Given the description of an element on the screen output the (x, y) to click on. 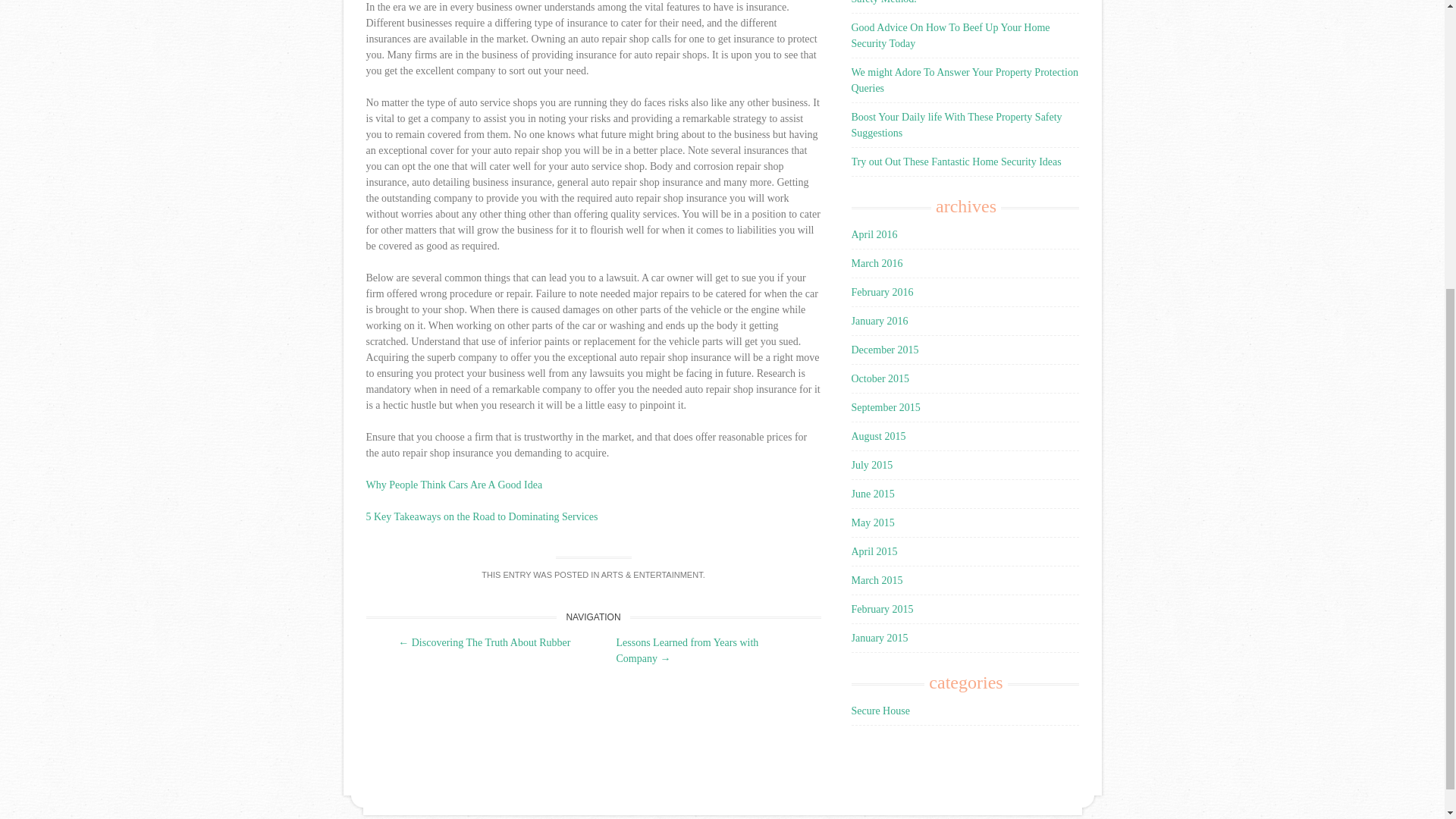
May 2015 (871, 522)
January 2016 (878, 320)
January 2015 (878, 637)
Boost Your Daily life With These Property Safety Suggestions (955, 124)
June 2015 (871, 493)
Secure House (879, 710)
March 2015 (876, 580)
Try out Out These Fantastic Home Security Ideas (955, 161)
September 2015 (885, 407)
December 2015 (884, 349)
